Given the description of an element on the screen output the (x, y) to click on. 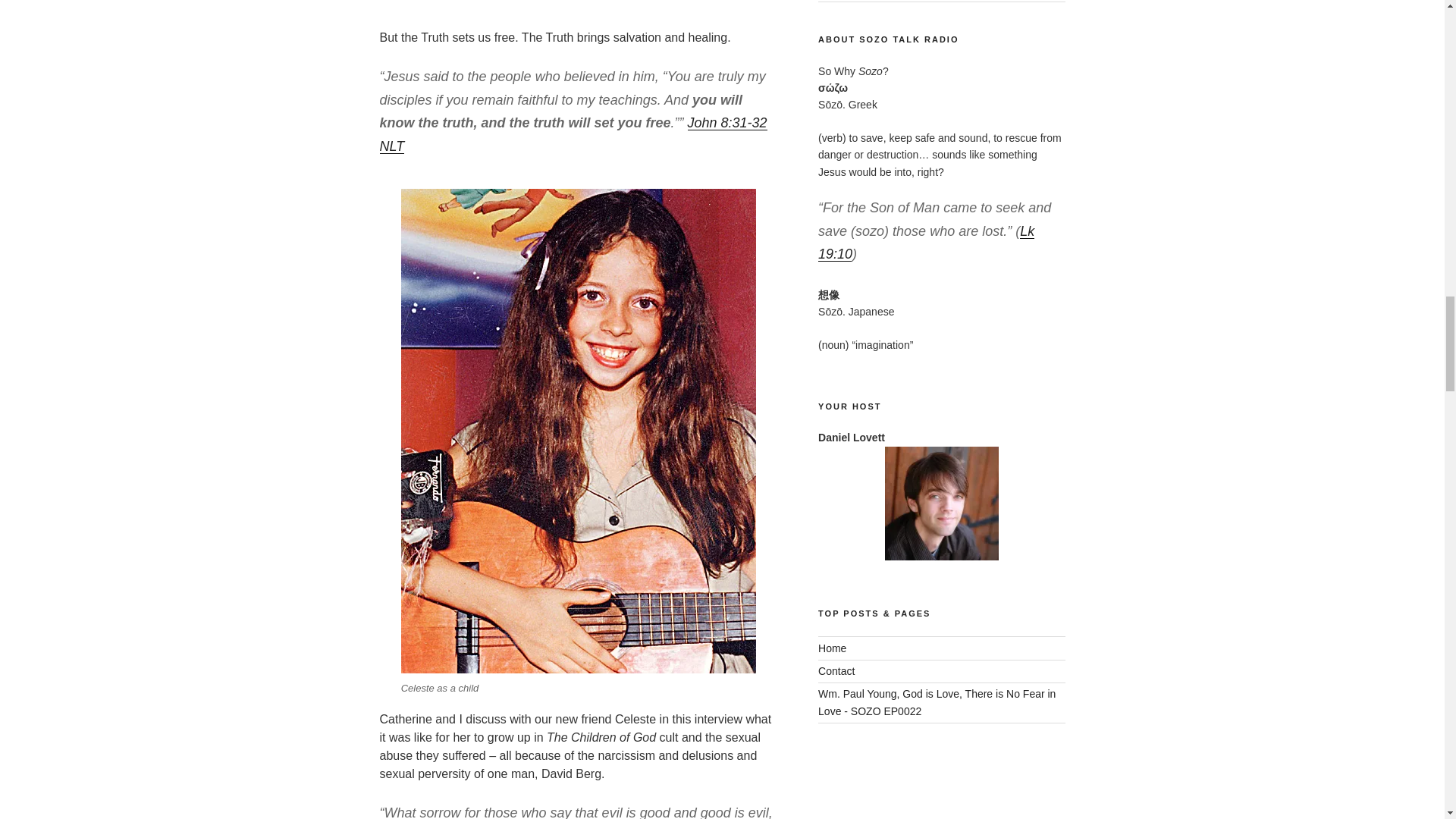
John 8:31-32 NLT (572, 134)
